Given the description of an element on the screen output the (x, y) to click on. 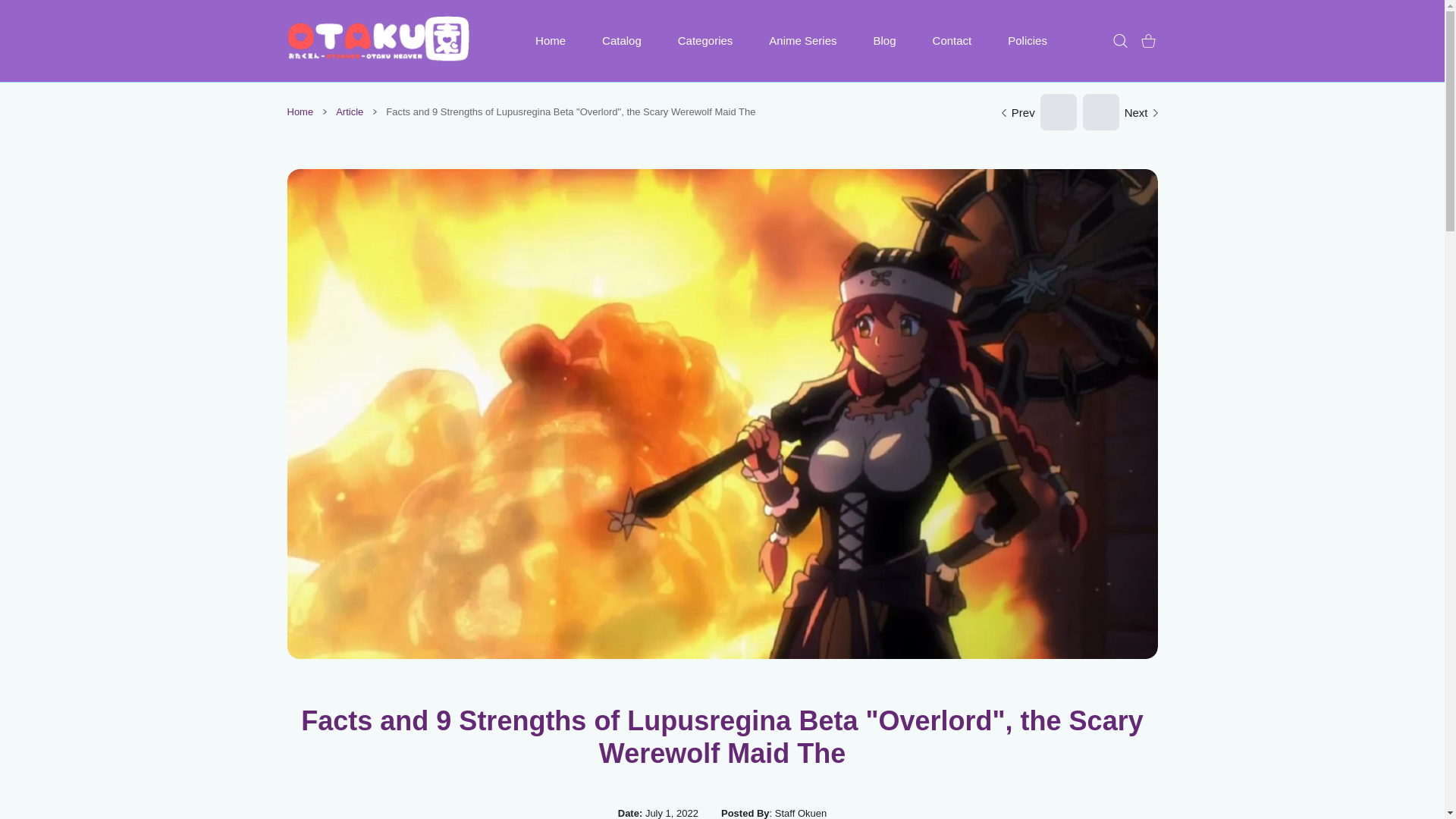
Blog (884, 40)
Shopping Cart (1147, 41)
Article (349, 111)
Next (1116, 112)
Categories (705, 40)
Prev (1038, 112)
Anime Series (802, 40)
Policies (1027, 40)
Home (299, 111)
Home (550, 40)
